Given the description of an element on the screen output the (x, y) to click on. 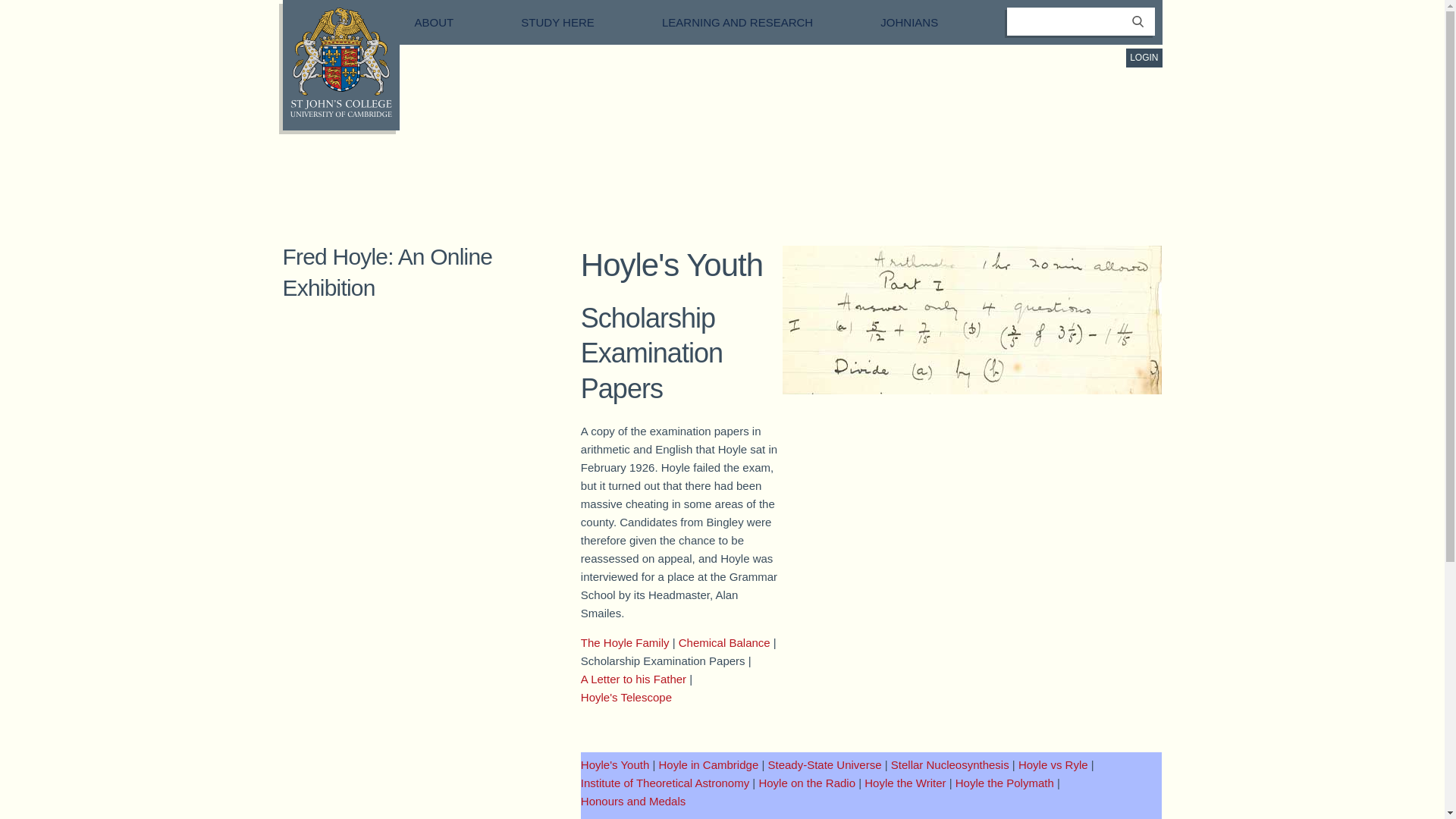
LEARNING AND RESEARCH (753, 22)
ABOUT (450, 22)
home (340, 113)
JOHNIANS (925, 22)
STUDY HERE (574, 22)
Enter the terms you wish to search for. (1080, 21)
About St John's (450, 22)
Study here (574, 22)
Grammar school scholarship examination paper in Arithmetic (972, 319)
Search (1137, 30)
